Given the description of an element on the screen output the (x, y) to click on. 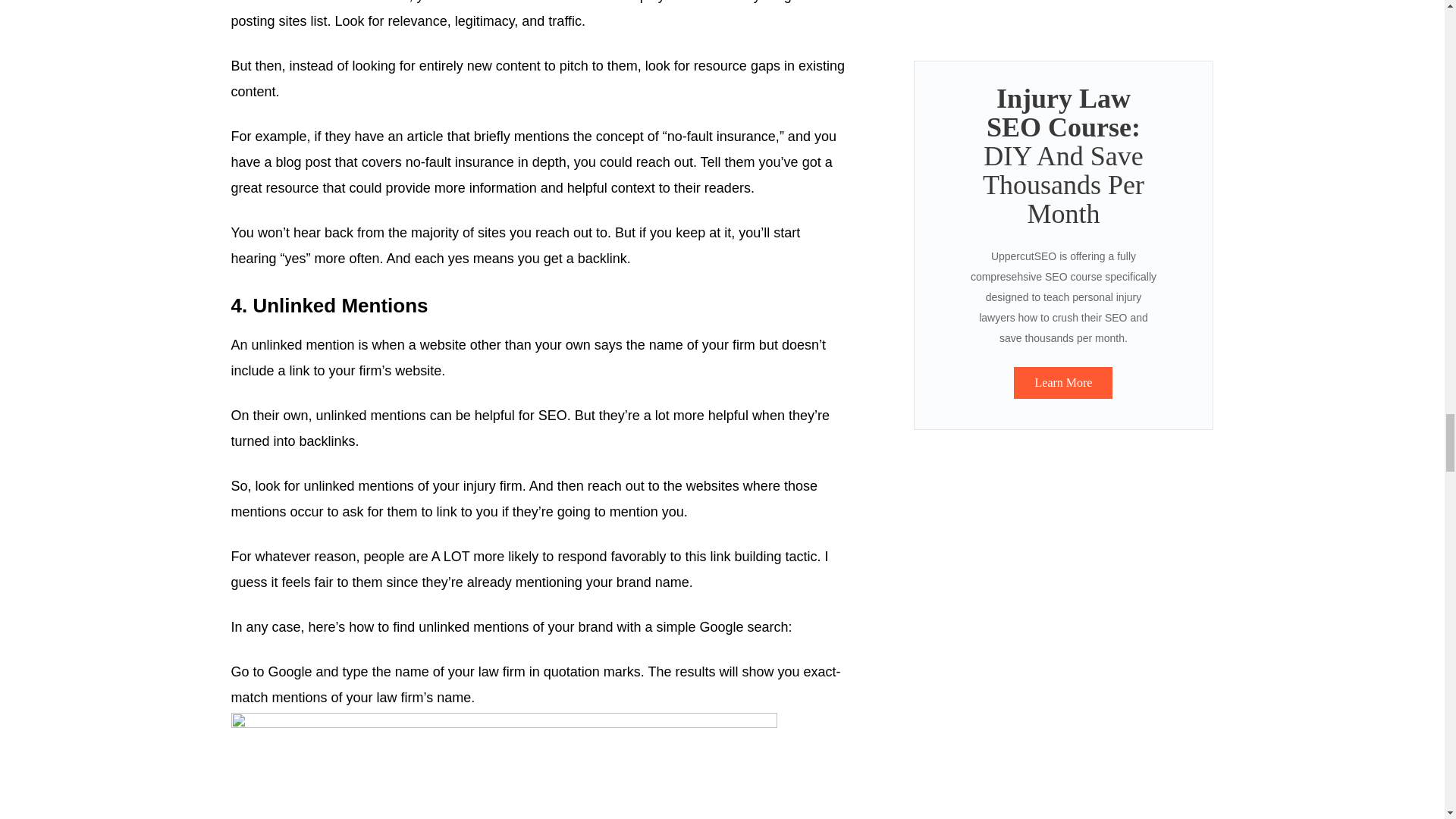
find sites for link insertions (328, 1)
